Given the description of an element on the screen output the (x, y) to click on. 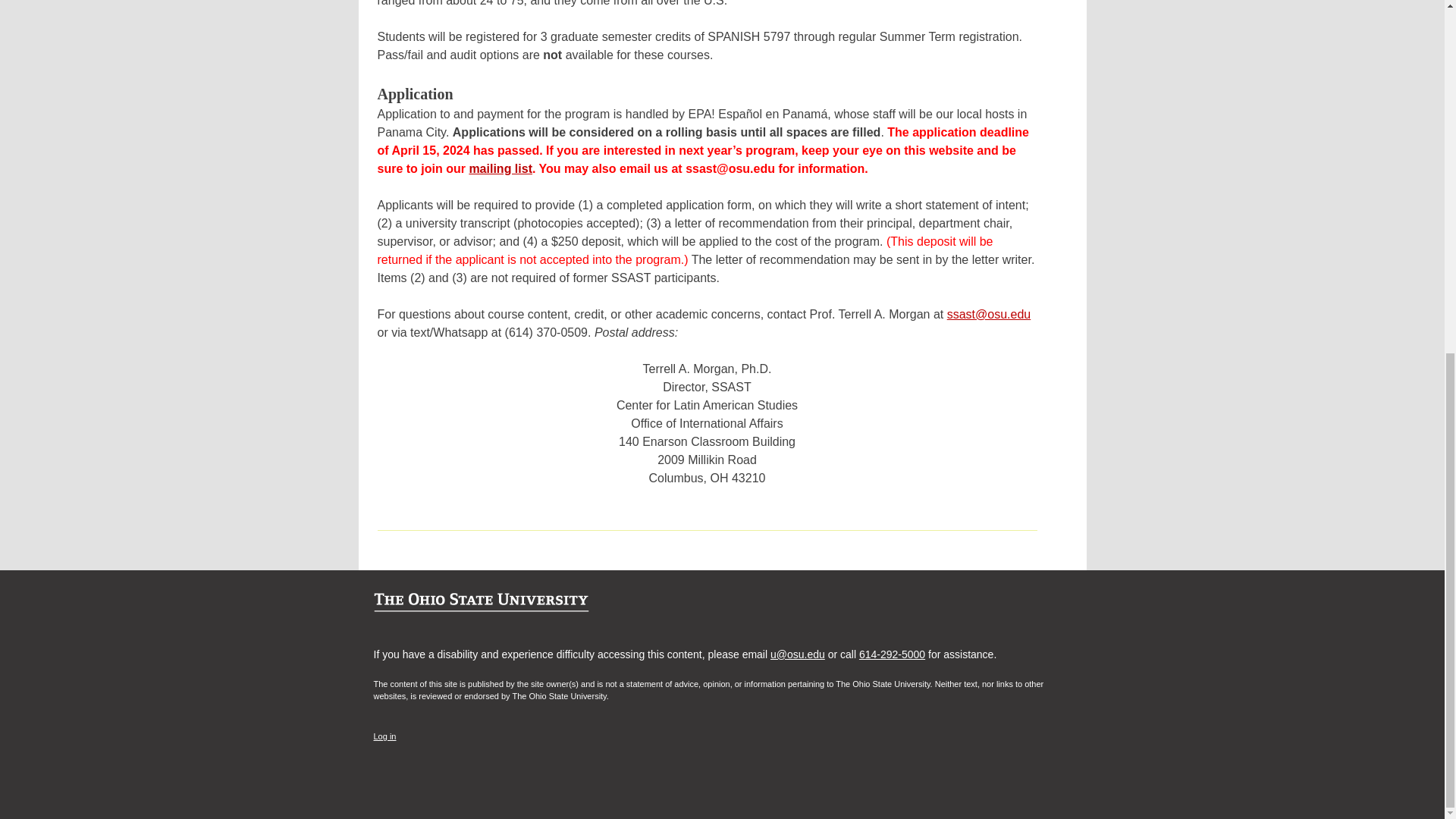
mailing list (500, 168)
Log in (384, 736)
614-292-5000 (891, 654)
